Given the description of an element on the screen output the (x, y) to click on. 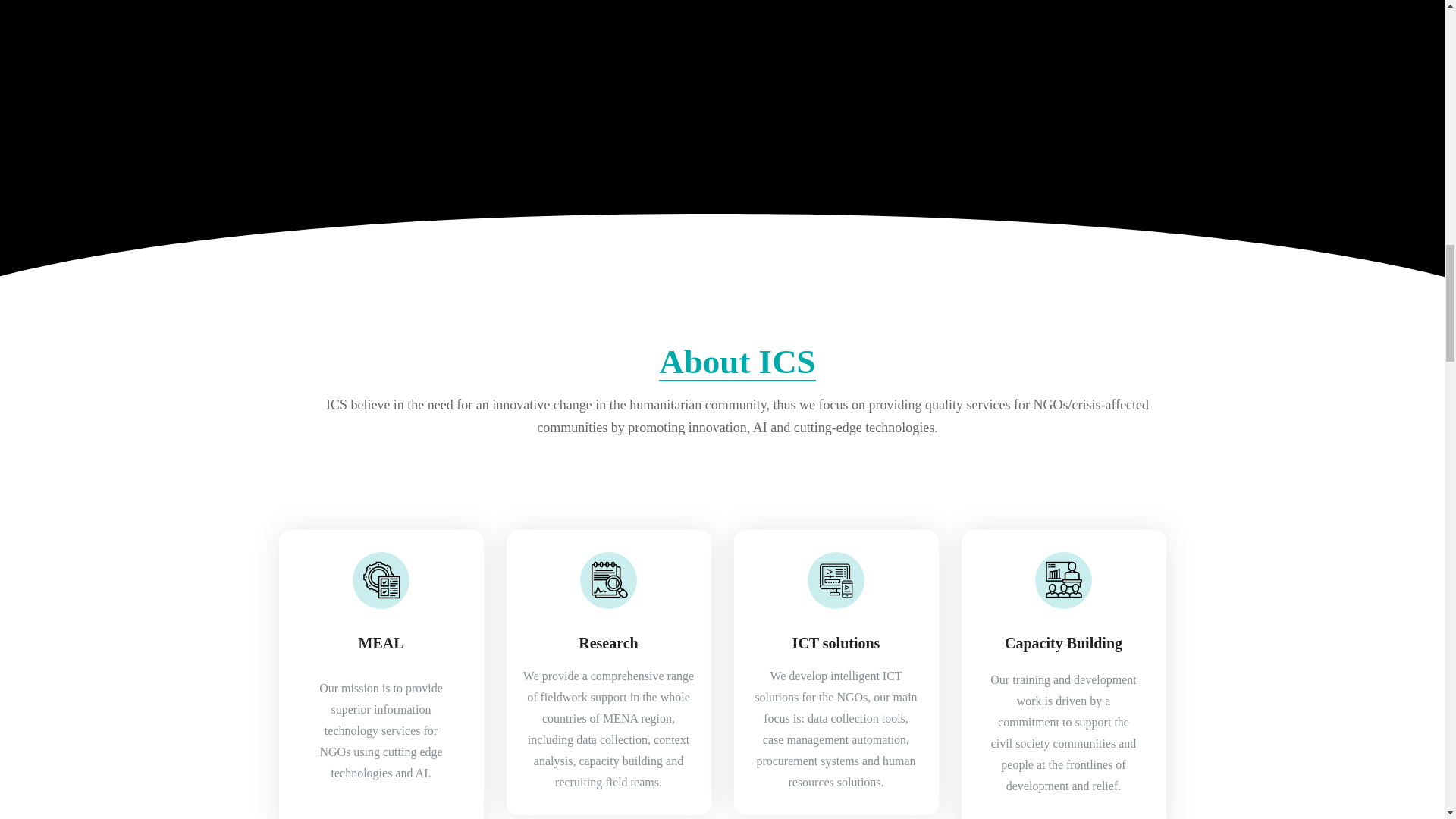
ICT solutions (836, 642)
MEAL (380, 642)
Research (608, 642)
Capacity Building (1063, 642)
